Given the description of an element on the screen output the (x, y) to click on. 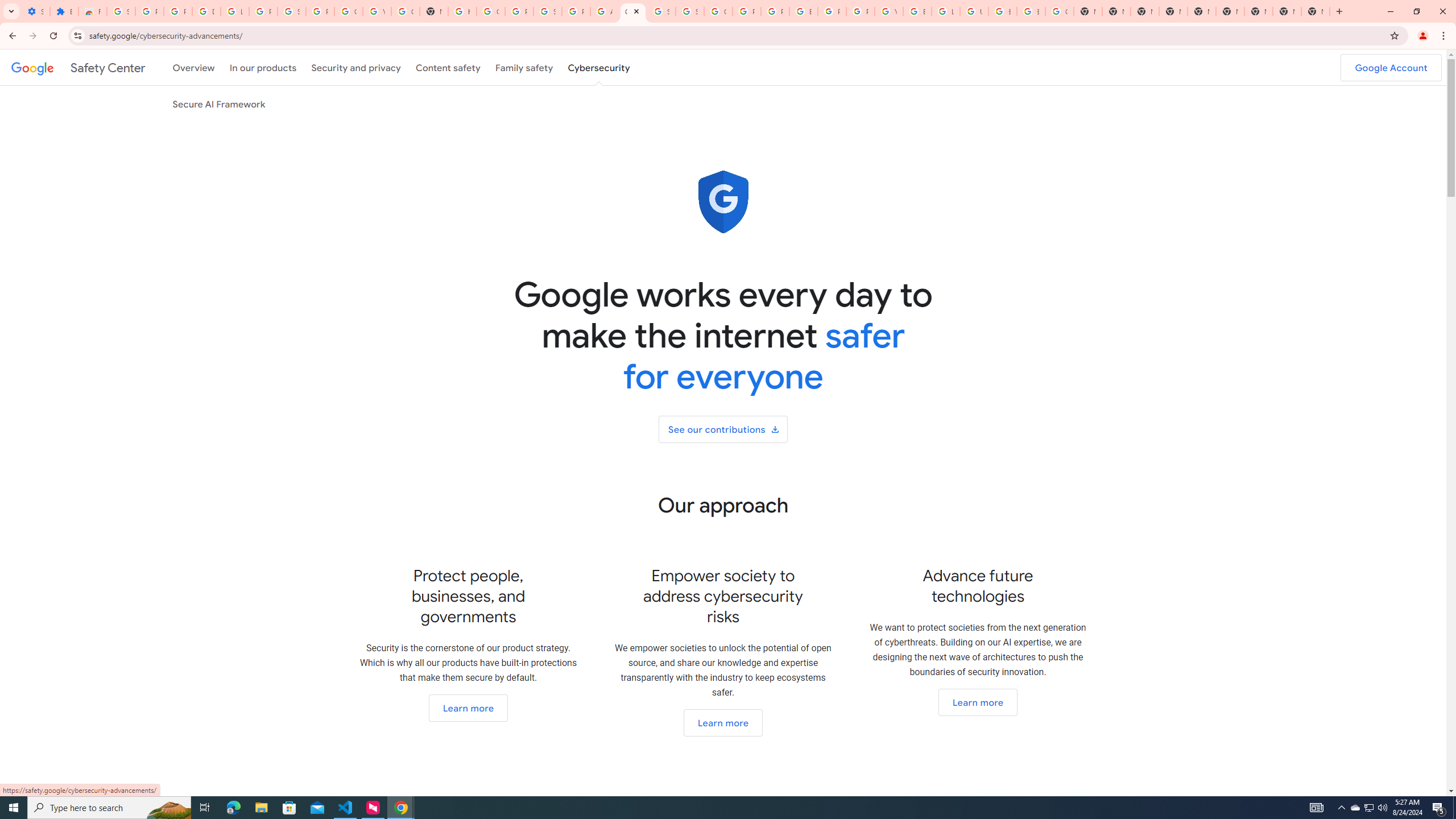
Security and privacy (356, 67)
Secure AI Framework (218, 103)
https://scholar.google.com/ (461, 11)
Go to our cybersecurity section (977, 701)
New Tab (1315, 11)
Google Account (1390, 67)
YouTube (888, 11)
Content safety (447, 67)
Privacy Help Center - Policies Help (746, 11)
